Given the description of an element on the screen output the (x, y) to click on. 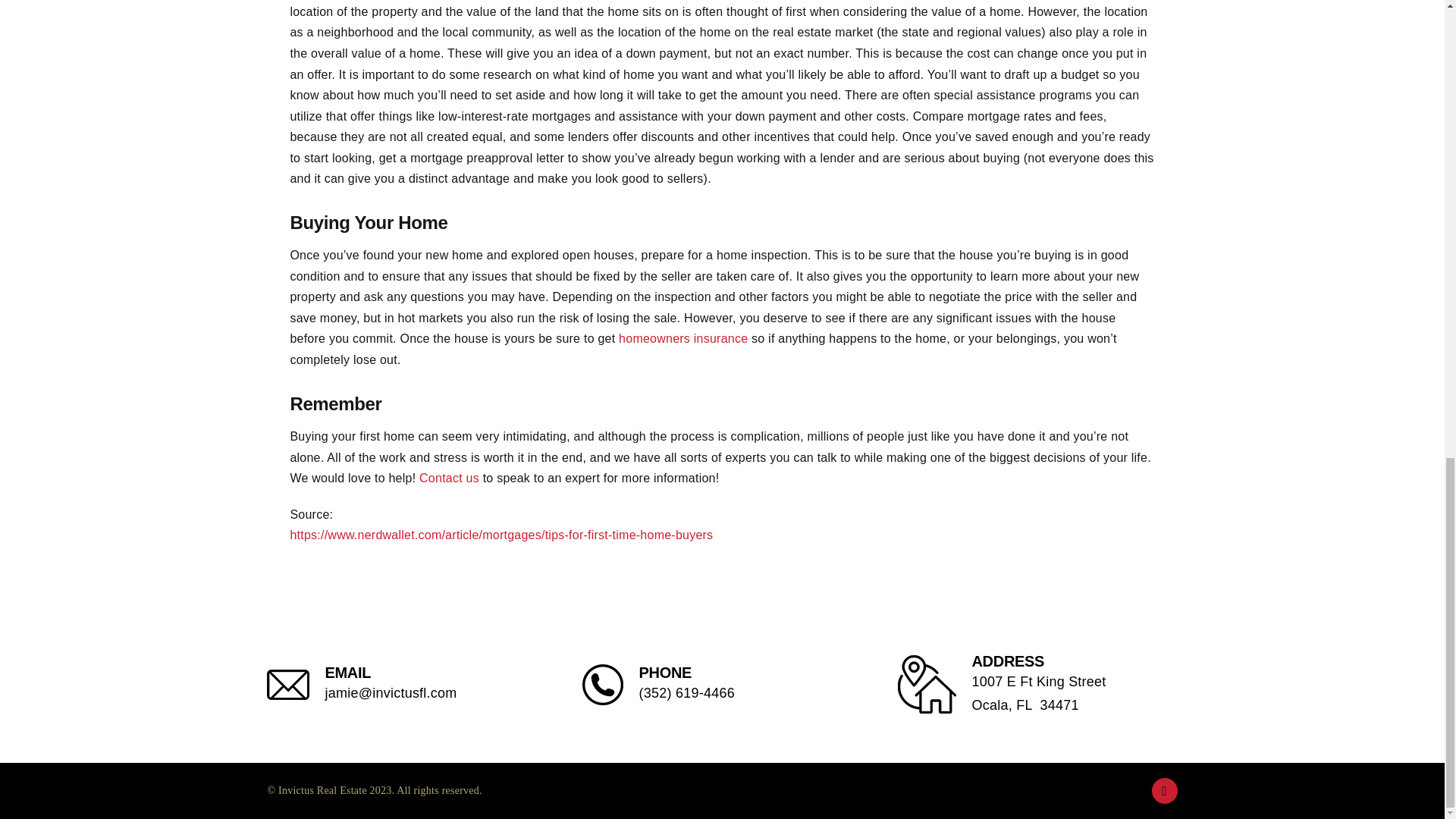
homeowners insurance (1038, 684)
Contact us (683, 338)
